Given the description of an element on the screen output the (x, y) to click on. 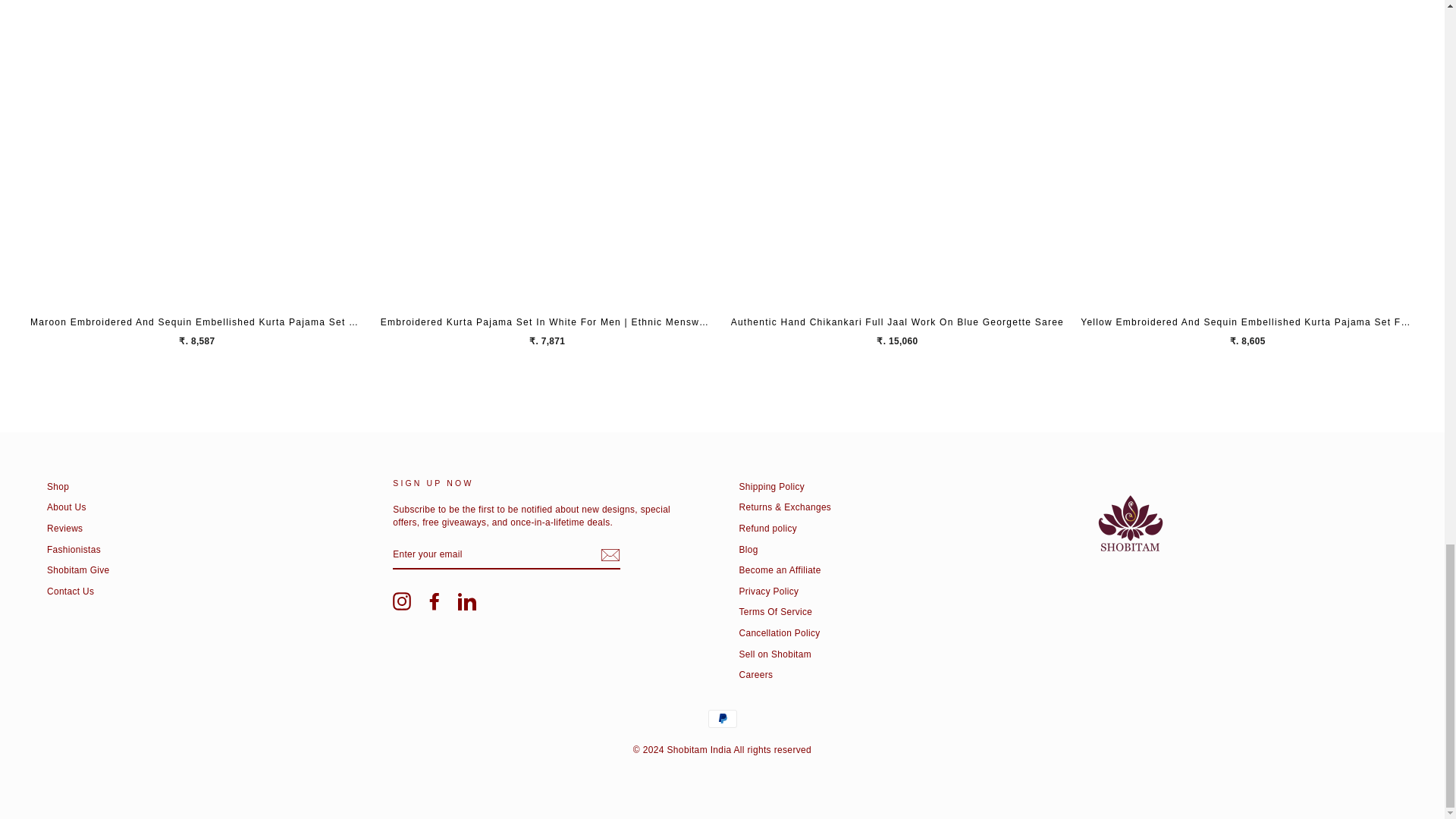
Shobitam India on LinkedIn (467, 601)
Shobitam India on Instagram (401, 601)
PayPal (721, 719)
Shobitam India on Facebook (434, 601)
